Given the description of an element on the screen output the (x, y) to click on. 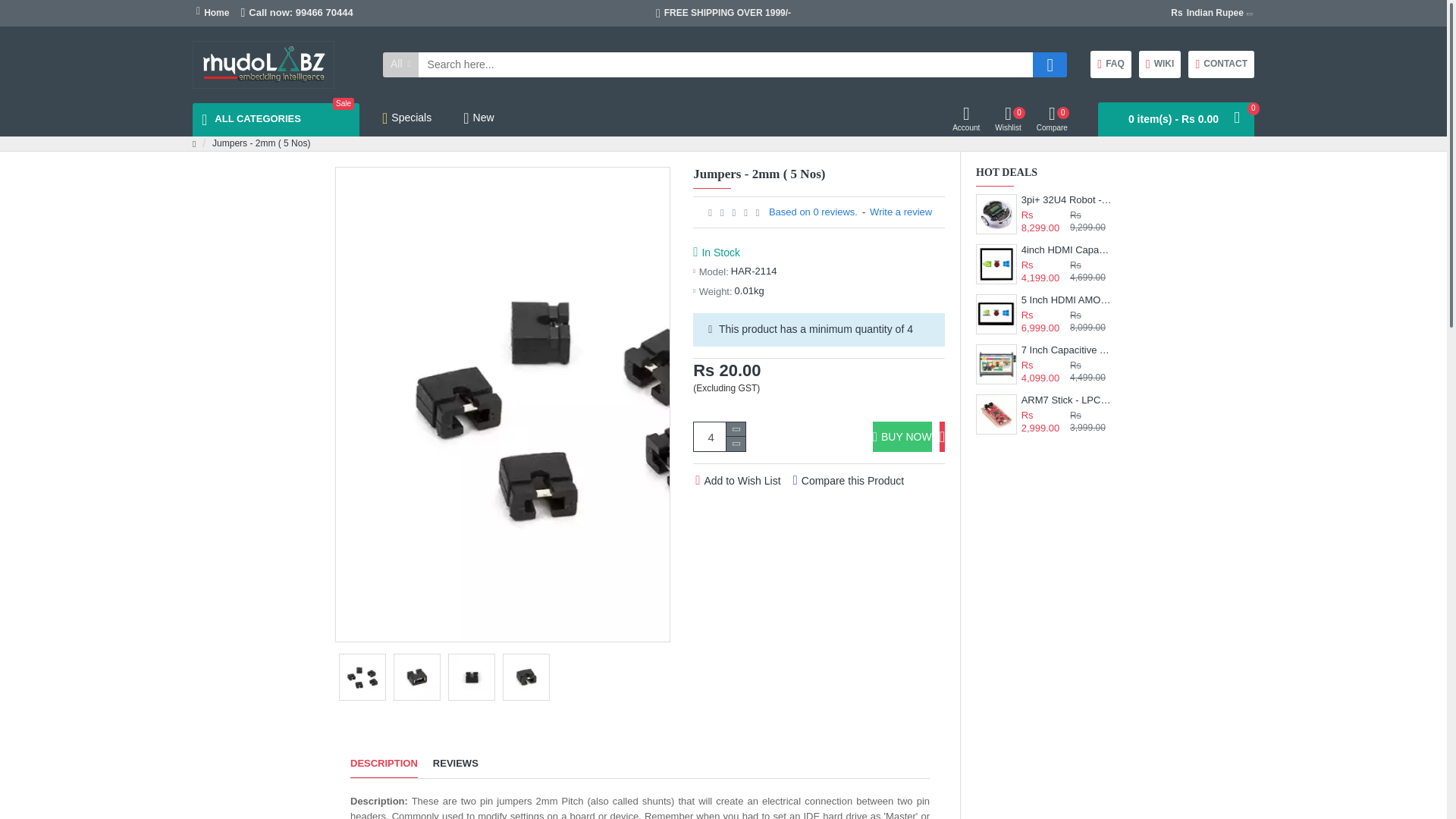
FAQ (1110, 63)
Call now: 99466 70444 (295, 13)
4 (719, 436)
CONTACT (1206, 12)
rhydoLABZ (1220, 63)
WIKI (263, 64)
Home (1159, 63)
